Given the description of an element on the screen output the (x, y) to click on. 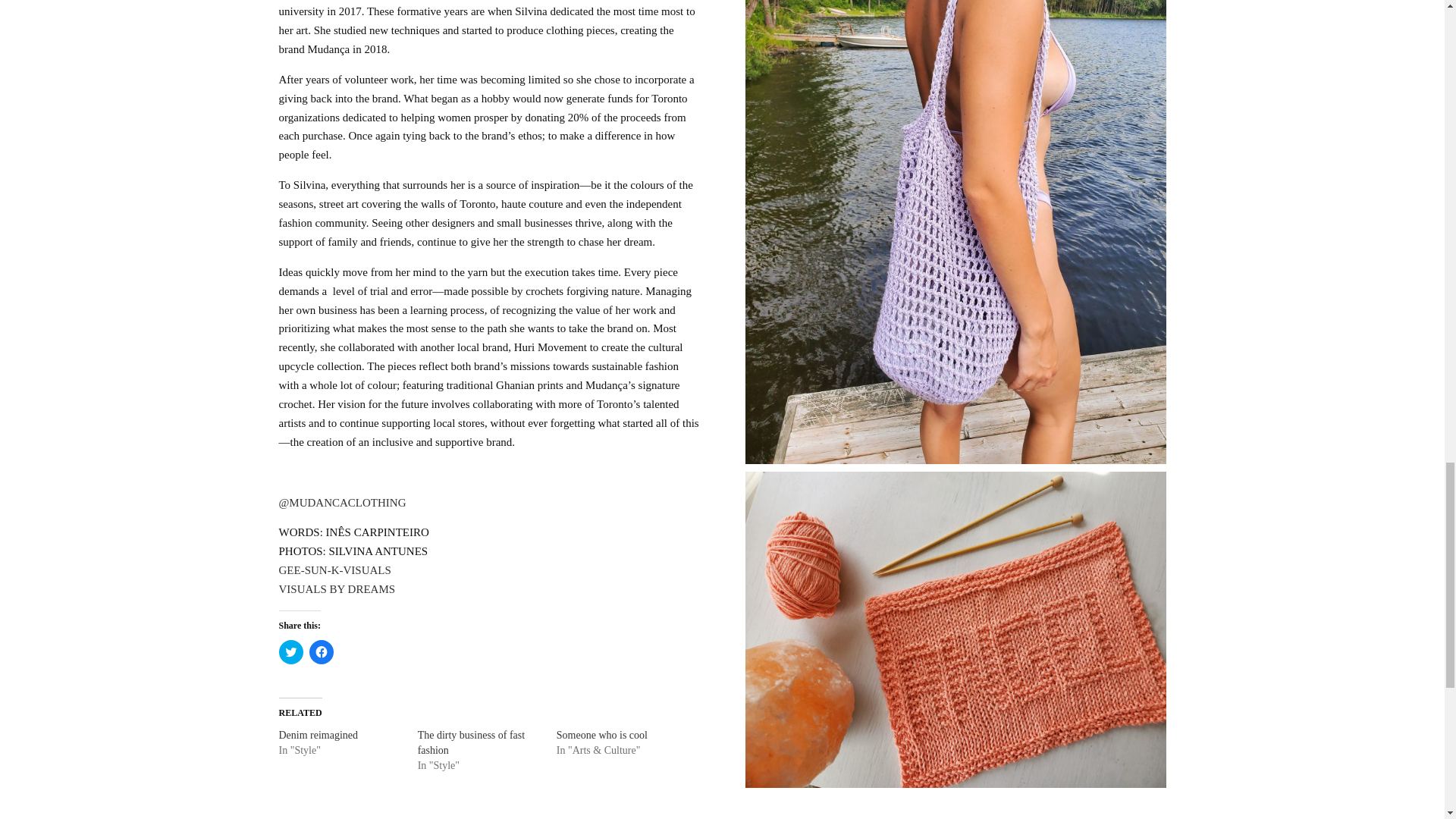
Denim reimagined (318, 430)
Someone who is cool (601, 430)
Click to share on Facebook (320, 346)
The dirty business of fast fashion (471, 438)
Click to share on Twitter (290, 346)
